Given the description of an element on the screen output the (x, y) to click on. 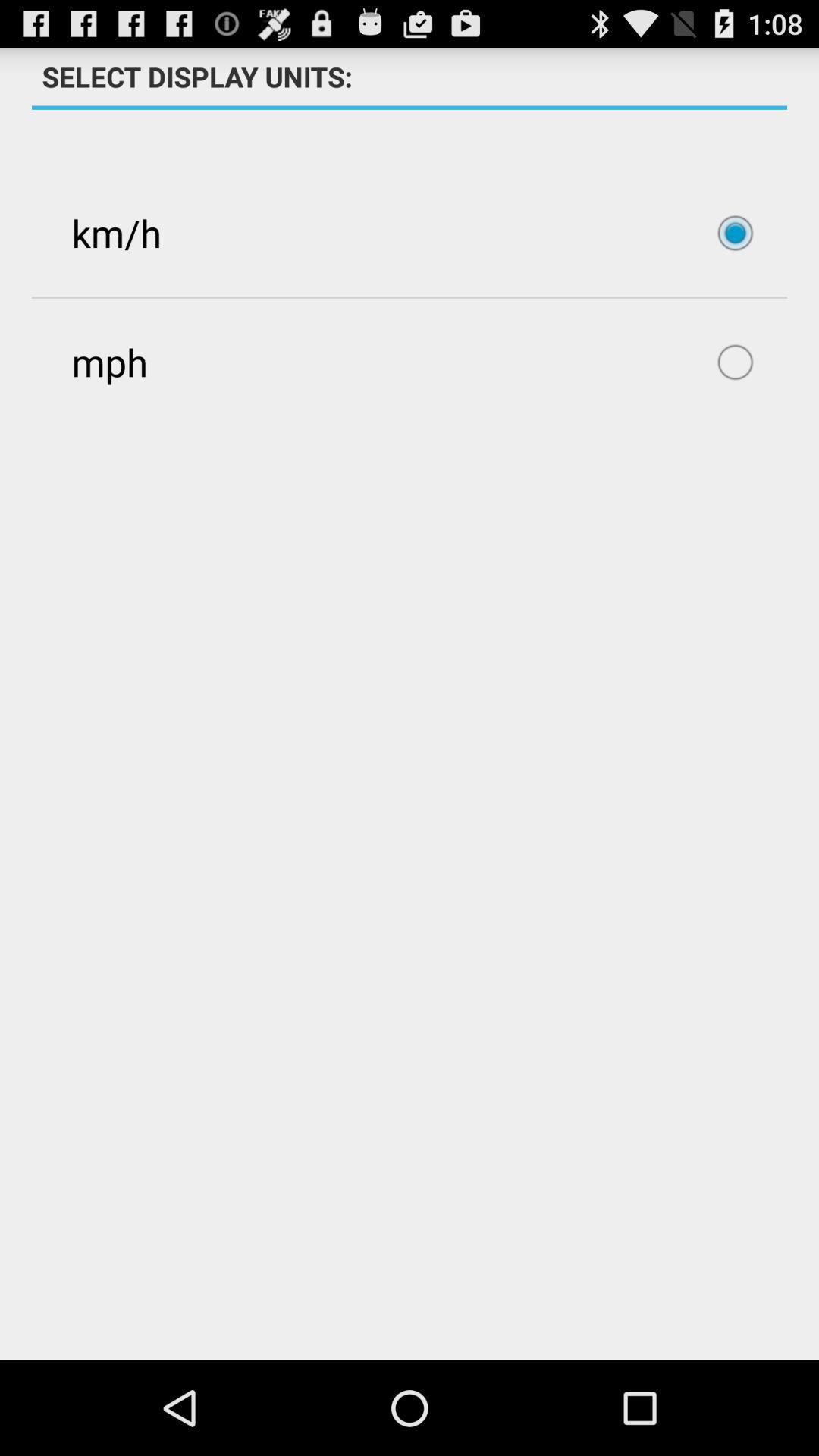
open icon below the km/h item (409, 361)
